Given the description of an element on the screen output the (x, y) to click on. 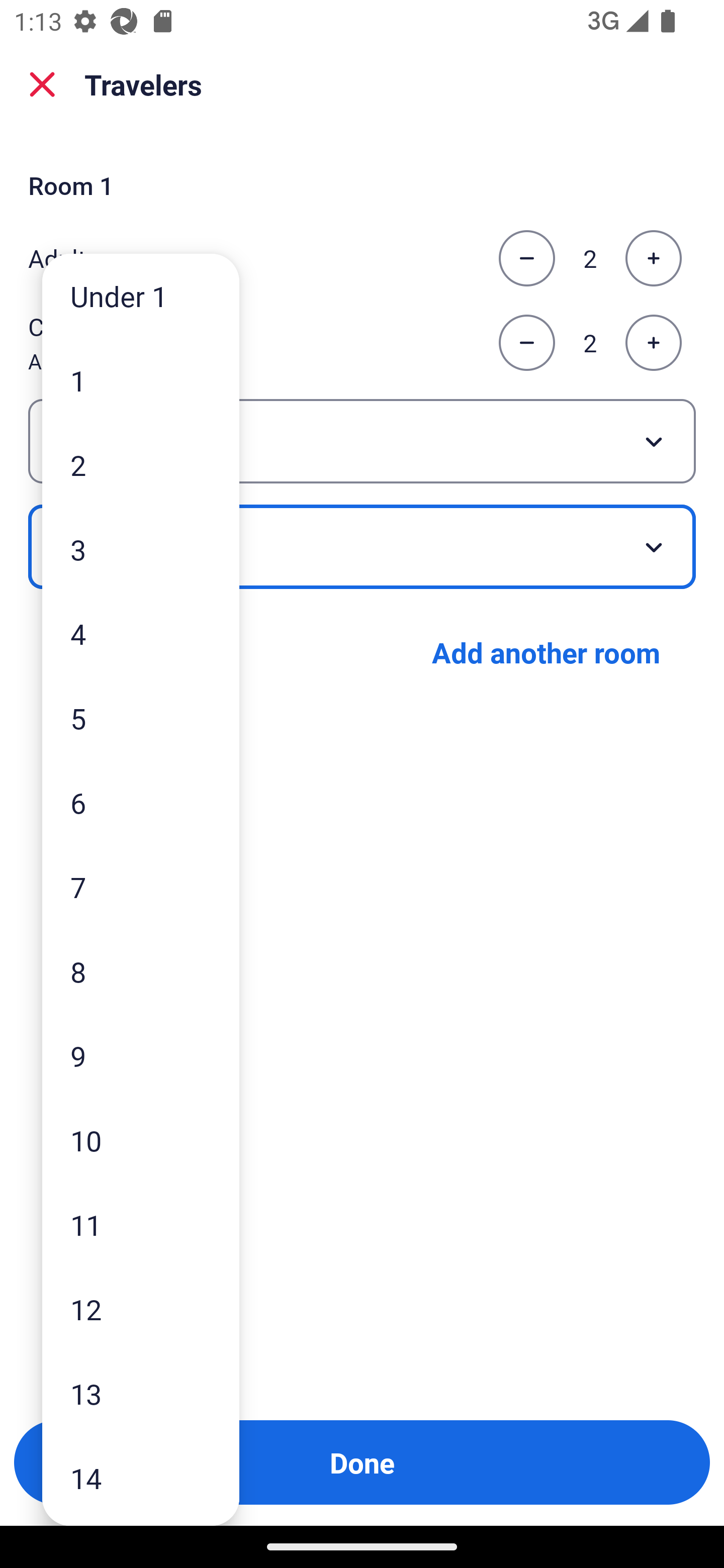
Under 1 (140, 296)
1 (140, 380)
2 (140, 464)
3 (140, 548)
4 (140, 633)
5 (140, 717)
6 (140, 802)
7 (140, 887)
8 (140, 970)
9 (140, 1054)
10 (140, 1139)
11 (140, 1224)
12 (140, 1308)
13 (140, 1393)
14 (140, 1478)
